Given the description of an element on the screen output the (x, y) to click on. 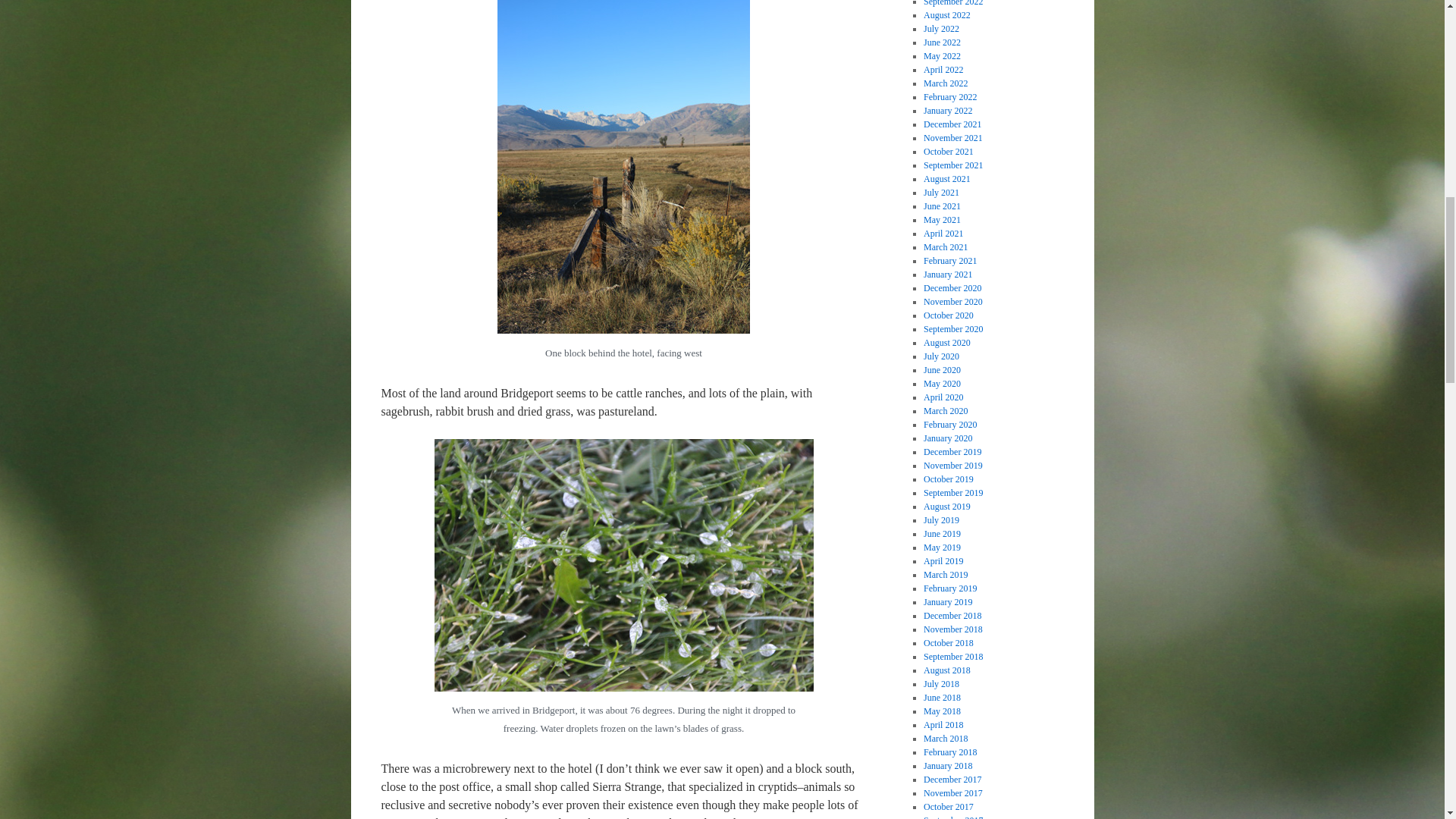
March 2022 (945, 82)
October 2021 (948, 151)
April 2022 (942, 69)
July 2021 (941, 192)
May 2022 (941, 55)
September 2022 (952, 3)
July 2022 (941, 28)
June 2022 (941, 41)
August 2021 (947, 178)
February 2022 (949, 96)
June 2021 (941, 205)
January 2022 (947, 110)
November 2021 (952, 137)
December 2021 (952, 123)
September 2021 (952, 164)
